Given the description of an element on the screen output the (x, y) to click on. 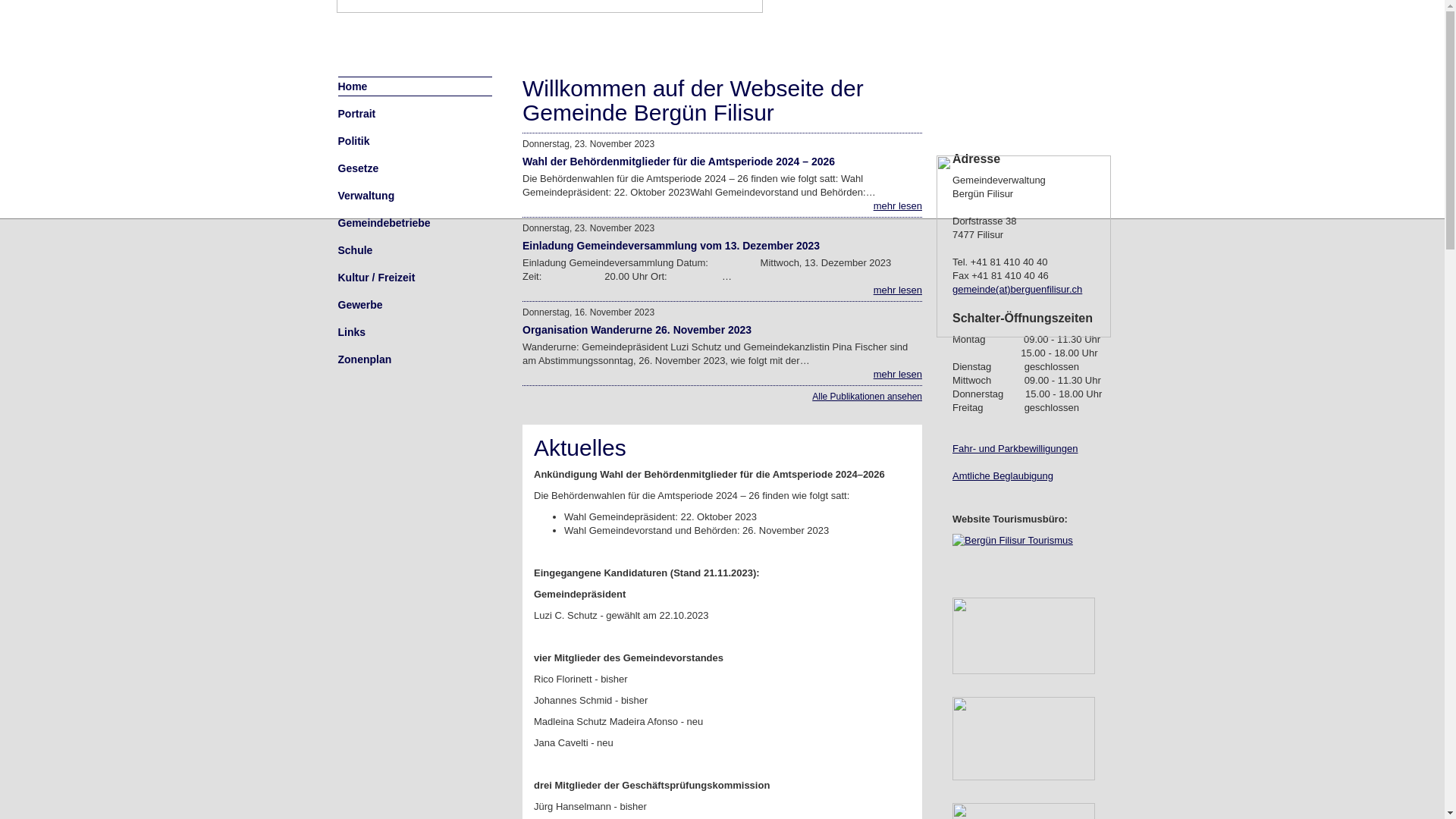
Zonenplan Element type: text (415, 359)
Alle Publikationen ansehen Element type: text (867, 396)
gemeinde(at)berguenfilisur.ch Element type: text (1017, 288)
mehr lesen Element type: text (897, 290)
Kultur / Freizeit Element type: text (415, 277)
Organisation Wanderurne 26. November 2023 Element type: text (636, 329)
mehr lesen Element type: text (897, 374)
Portrait Element type: text (415, 113)
Fahr- und Parkbewilligungen Element type: text (1014, 448)
Schule Element type: text (415, 250)
Gemeindebetriebe Element type: text (415, 222)
Amtliche Beglaubigung Element type: text (1002, 475)
Einladung Gemeindeversammlung vom 13. Dezember 2023 Element type: text (670, 245)
Links Element type: text (415, 332)
mehr lesen Element type: text (897, 206)
Gesetze Element type: text (415, 168)
Verwaltung Element type: text (415, 195)
Politik Element type: text (415, 140)
Home Element type: text (415, 86)
Gewerbe Element type: text (415, 304)
